Given the description of an element on the screen output the (x, y) to click on. 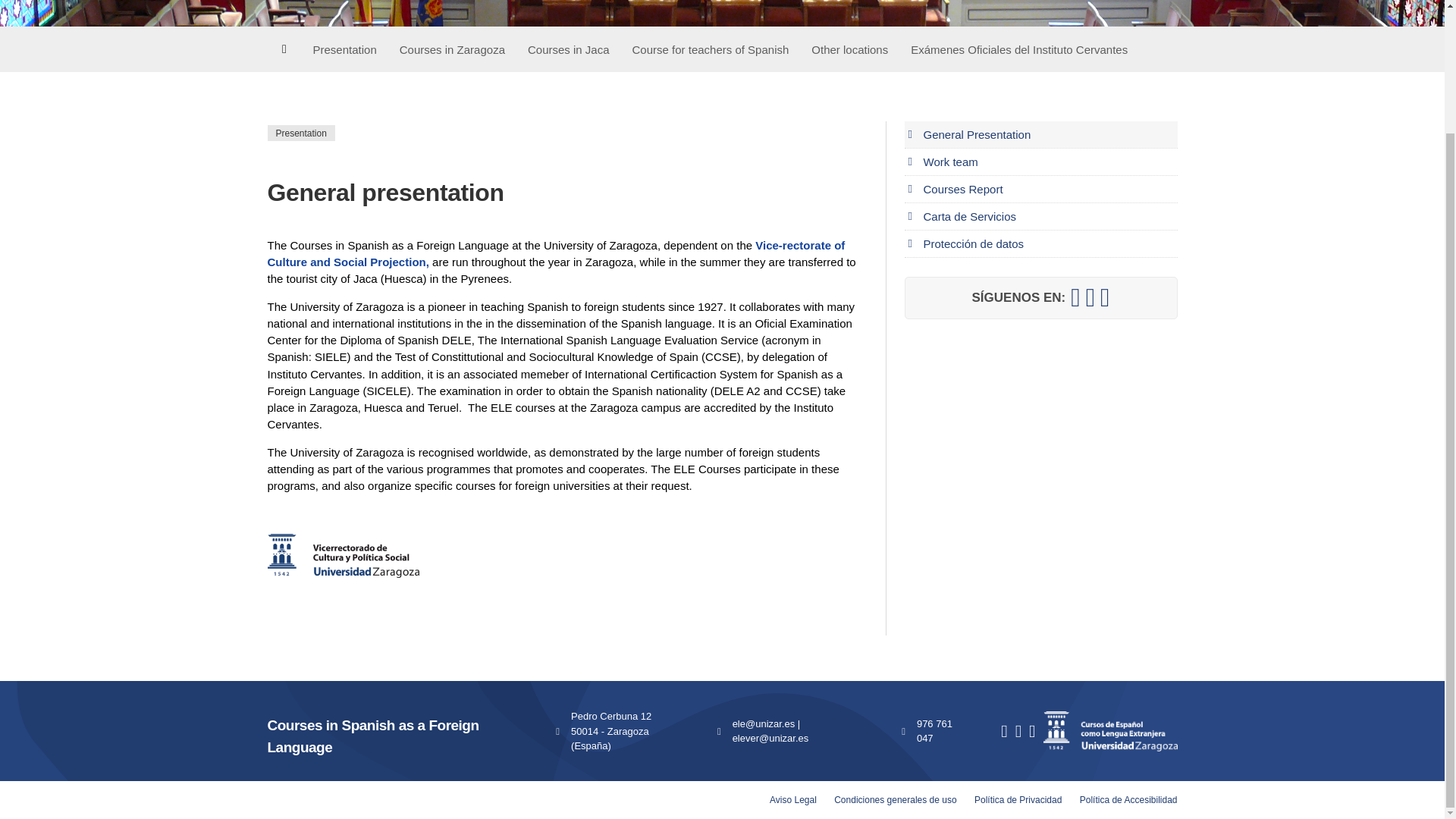
Carta de Servicios (1040, 216)
Presentation (344, 49)
Other locations (849, 49)
Work team (1040, 161)
Courses Report (1040, 189)
Courses in Zaragoza (452, 49)
Condiciones generales de uso (895, 799)
Vice-rectorate of Culture and Social Projection, (555, 253)
General Presentation (1040, 134)
Course for teachers of Spanish (710, 49)
Aviso Legal (793, 799)
Courses in Jaca (568, 49)
